Given the description of an element on the screen output the (x, y) to click on. 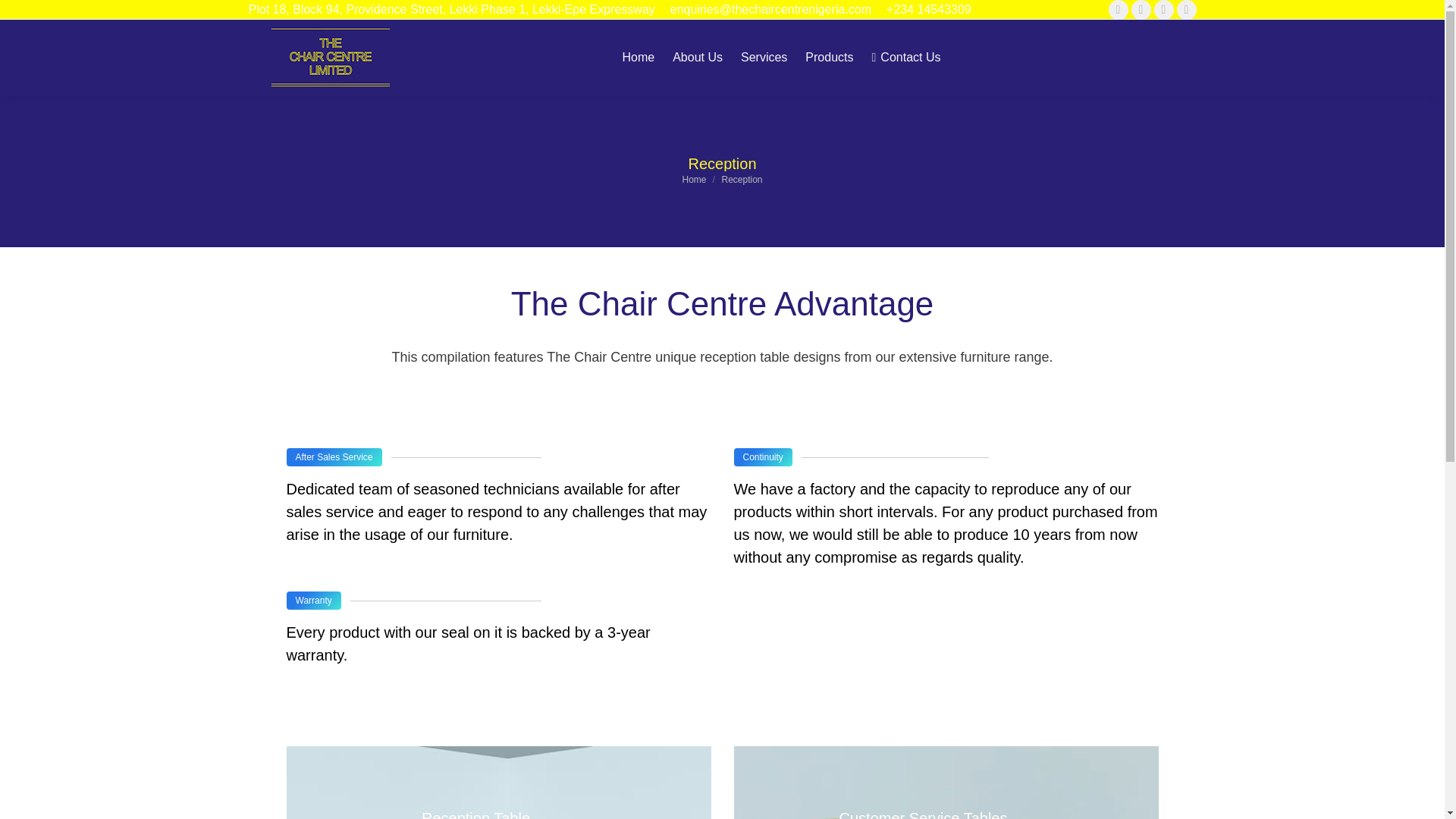
Home (637, 57)
Facebook page opens in new window (1118, 9)
Services (764, 57)
Linkedin page opens in new window (1163, 9)
Go! (22, 15)
Products (828, 57)
Mail page opens in new window (1186, 9)
Home (693, 179)
Linkedin page opens in new window (1163, 9)
Facebook page opens in new window (1118, 9)
